Given the description of an element on the screen output the (x, y) to click on. 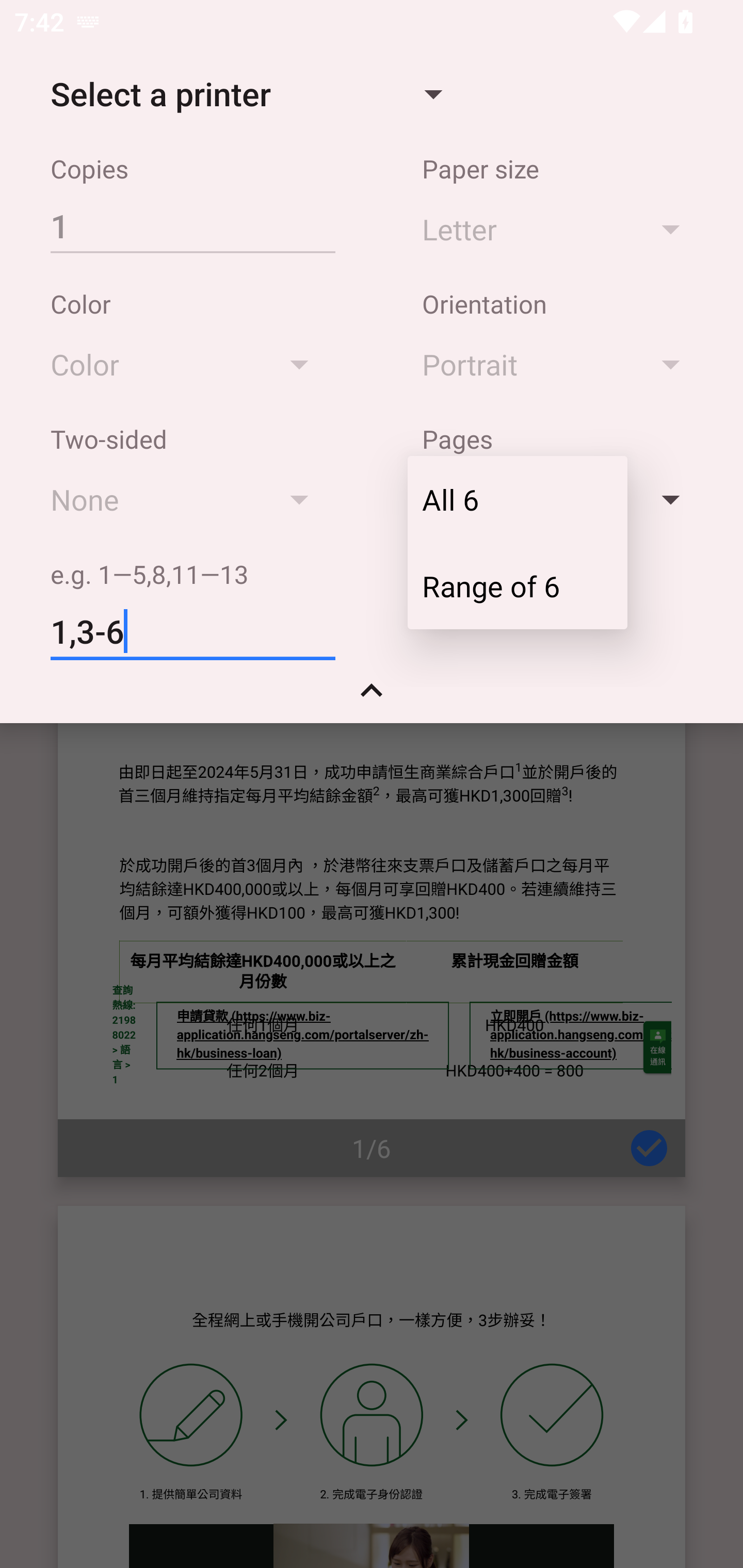
All 6 (517, 499)
Range of 6 (517, 585)
